Given the description of an element on the screen output the (x, y) to click on. 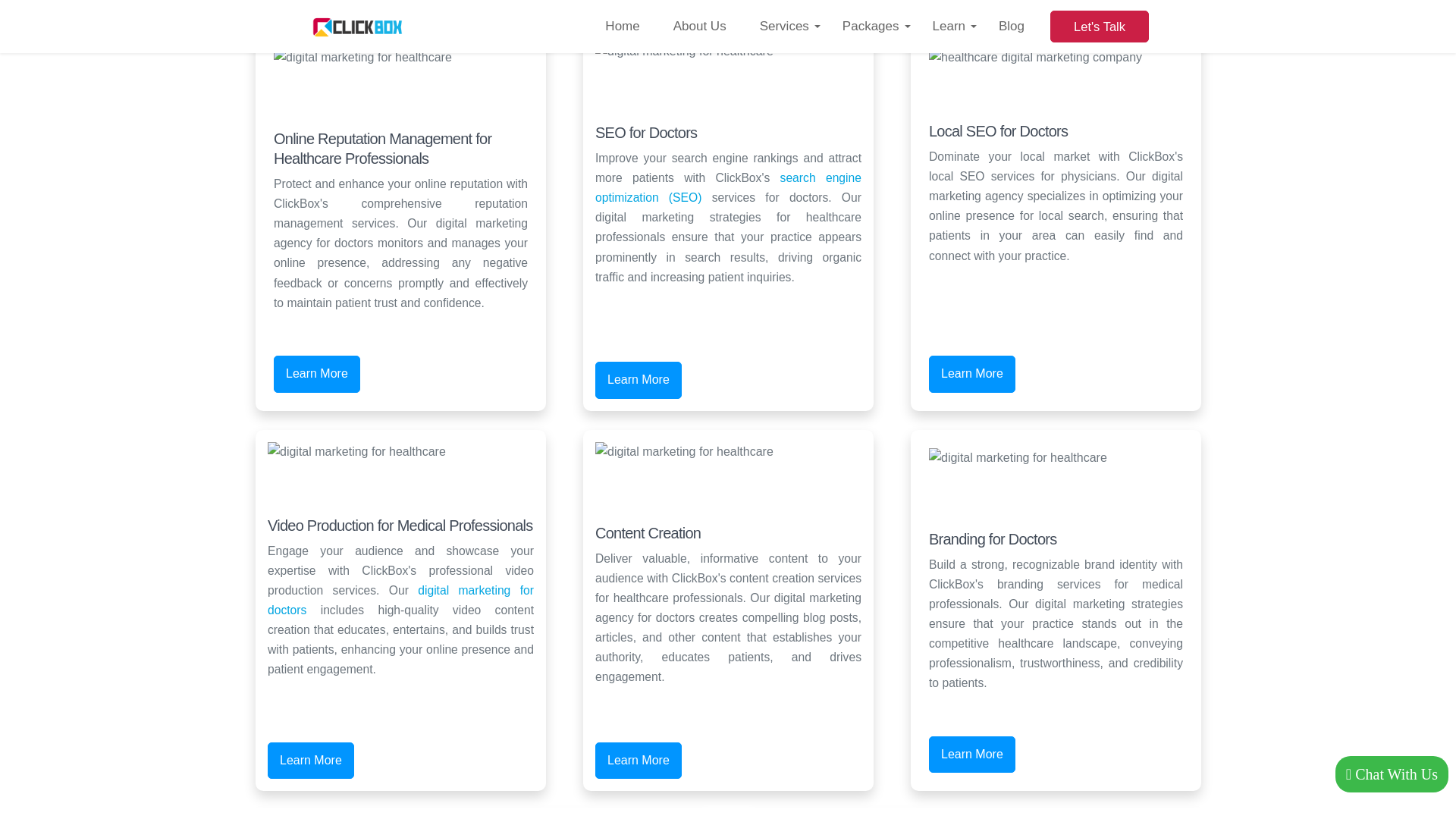
Learn More (971, 754)
Learn More (638, 760)
Learn More (638, 379)
Learn More (971, 374)
Learn More (310, 760)
Learn More (316, 374)
